Given the description of an element on the screen output the (x, y) to click on. 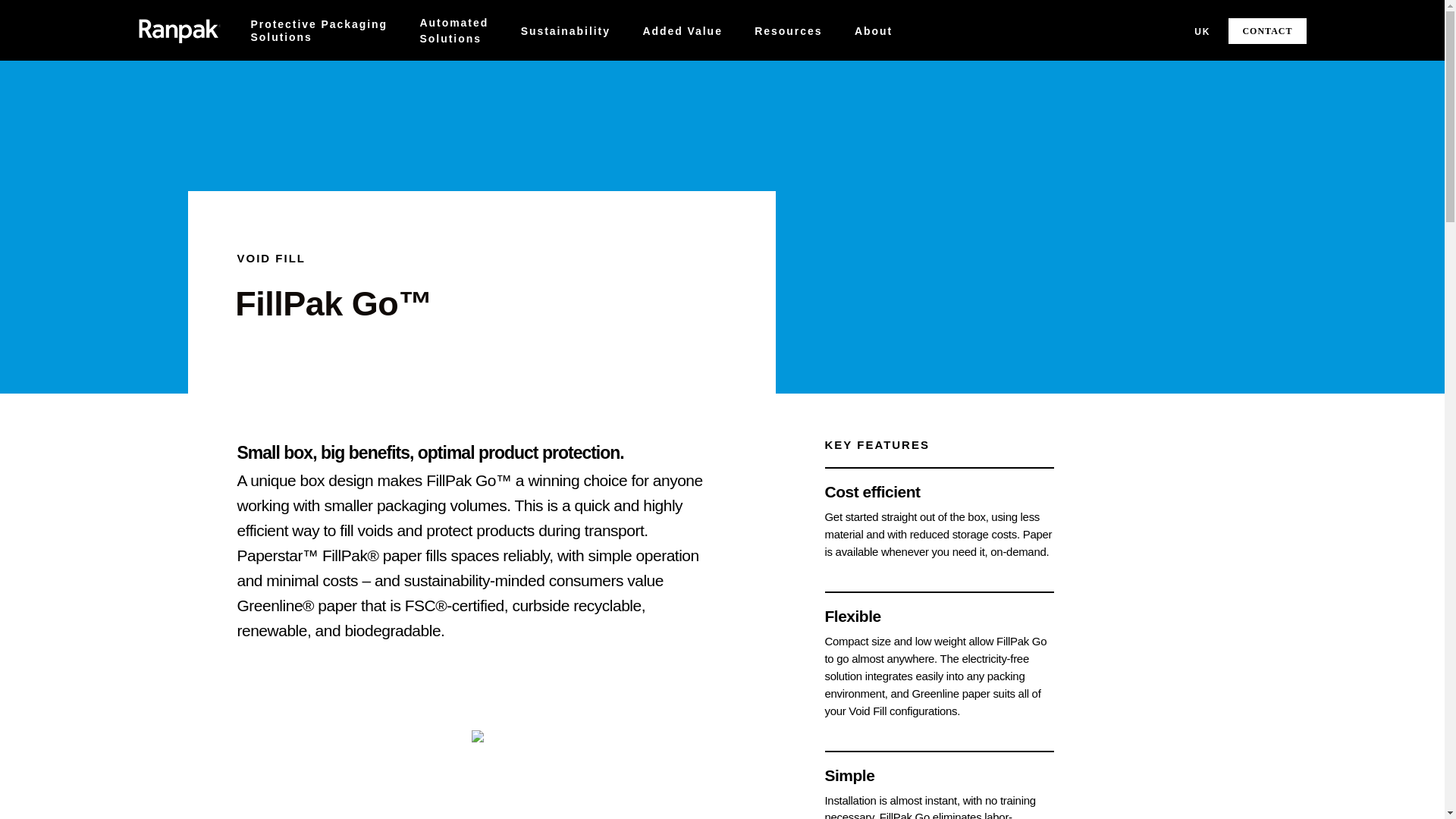
Knowledge Center (835, 74)
Sustainability (565, 30)
By Need (299, 74)
By Industry (310, 74)
Box Closing (618, 68)
Resources (788, 30)
Box Forming (318, 31)
By Application (473, 68)
